Given the description of an element on the screen output the (x, y) to click on. 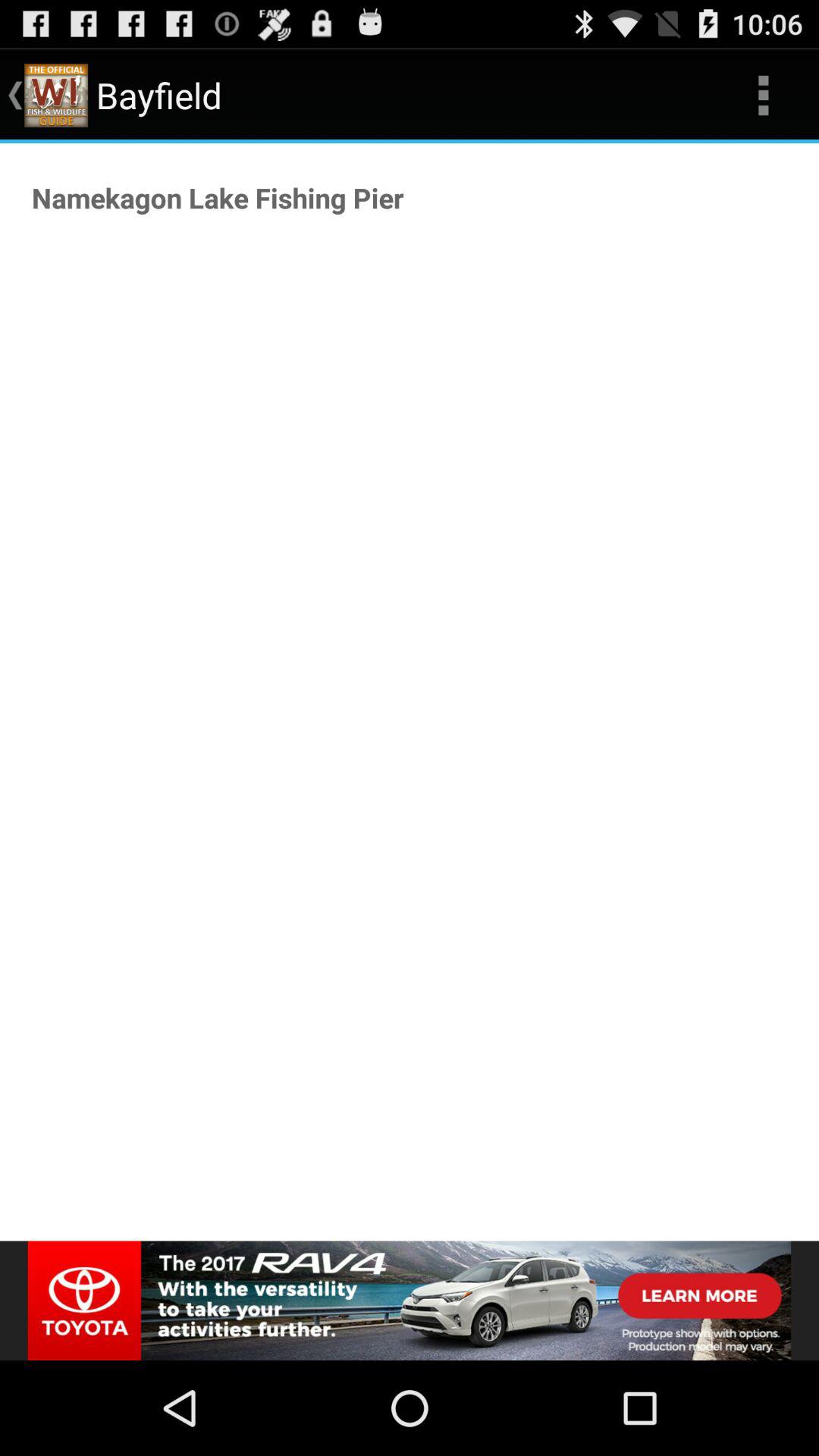
launch the namekagon lake fishing app (217, 197)
